Given the description of an element on the screen output the (x, y) to click on. 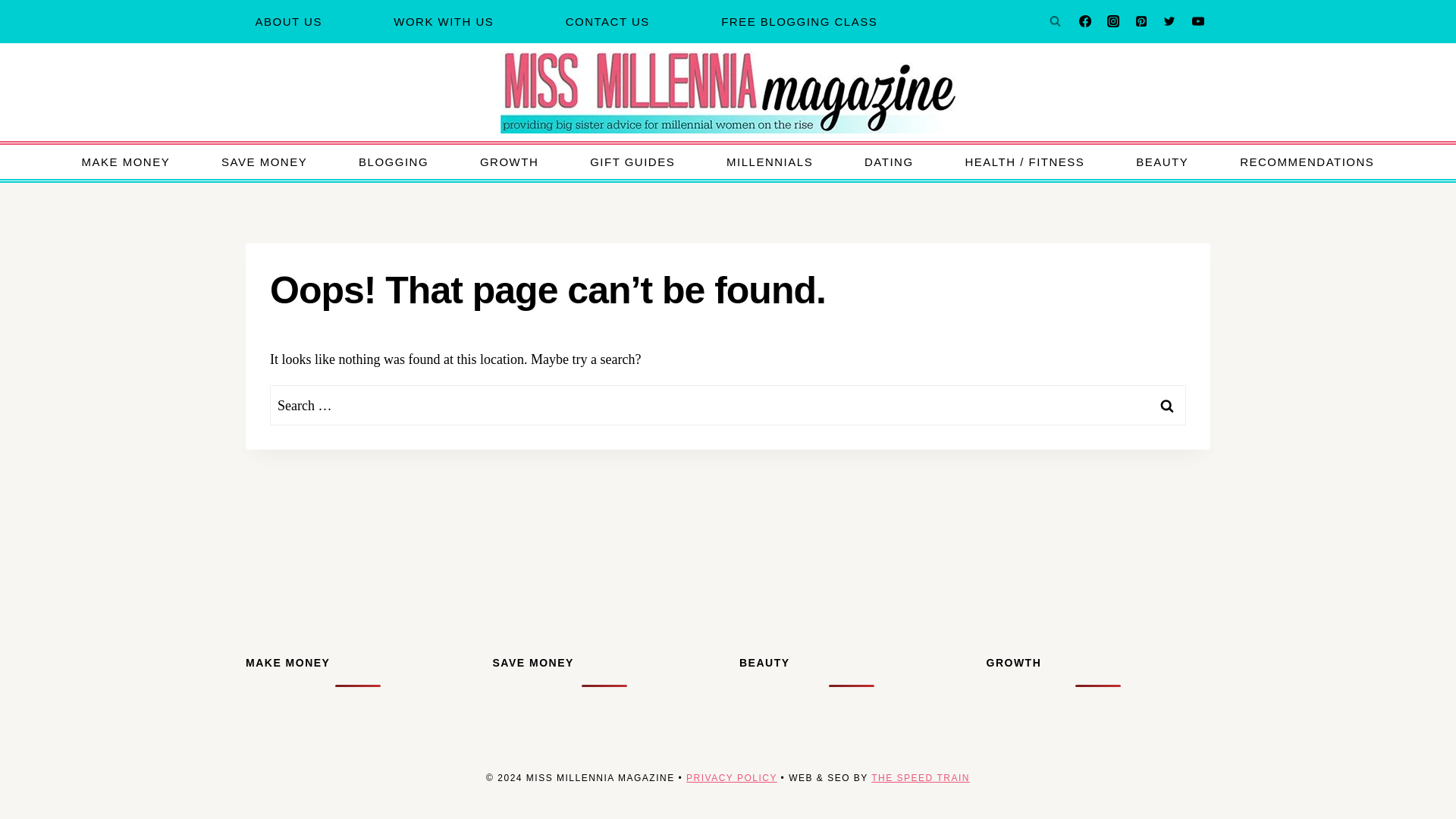
CONTACT US (607, 21)
BLOGGING (393, 161)
BEAUTY (1162, 161)
DATING (889, 161)
GROWTH (508, 161)
MAKE MONEY (125, 161)
Search (1167, 404)
ABOUT US (288, 21)
GIFT GUIDES (633, 161)
FREE BLOGGING CLASS (798, 21)
THE SPEED TRAIN (919, 777)
Search (1167, 404)
MILLENNIALS (769, 161)
Search (1167, 404)
RECOMMENDATIONS (1307, 161)
